Given the description of an element on the screen output the (x, y) to click on. 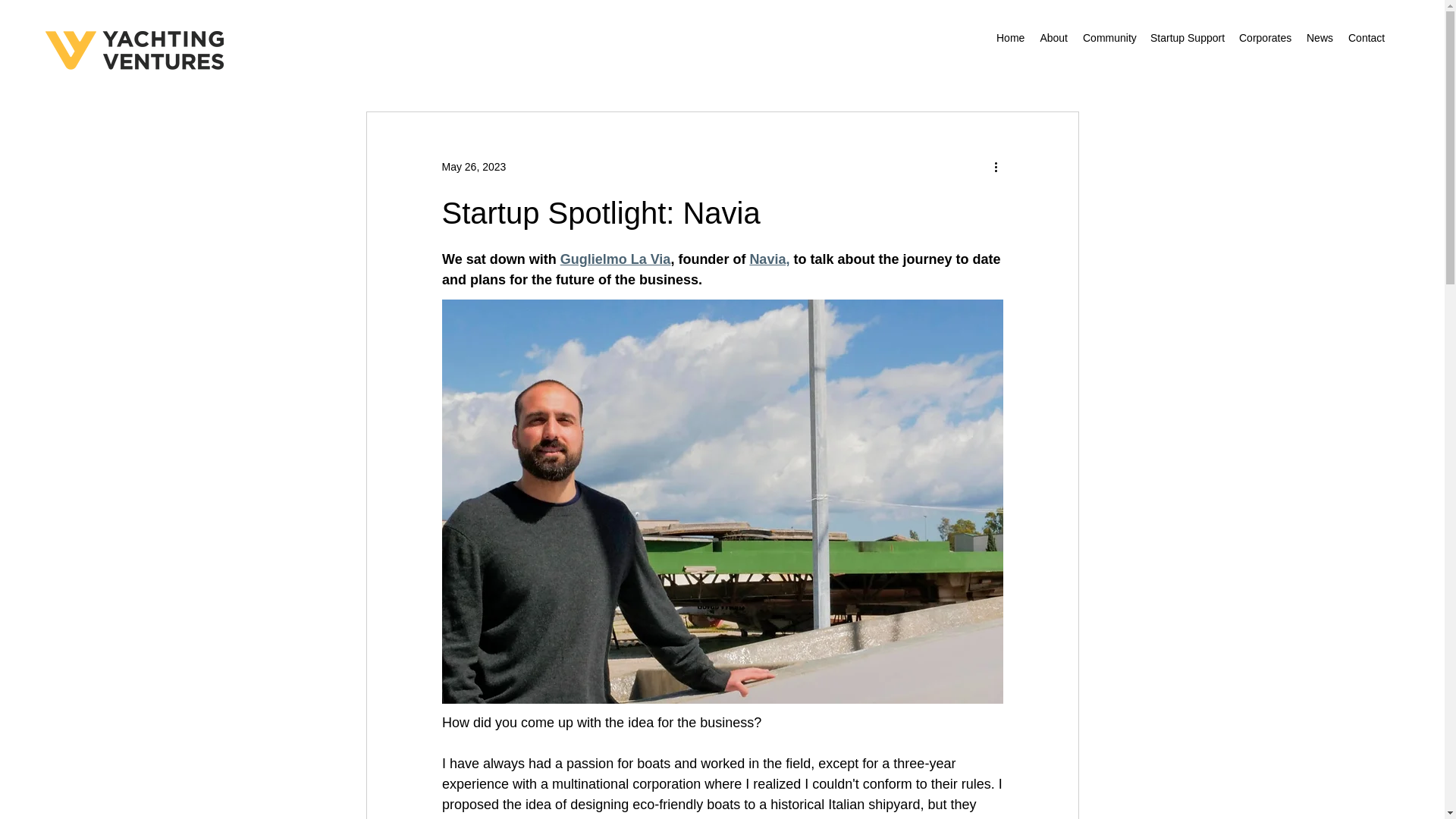
Startup Support (1186, 37)
Corporates (1264, 37)
May 26, 2023 (473, 166)
Navia, (769, 258)
Community (1108, 37)
Home (1010, 37)
Guglielmo La Via (614, 258)
News (1319, 37)
About (1053, 37)
Contact (1365, 37)
